Given the description of an element on the screen output the (x, y) to click on. 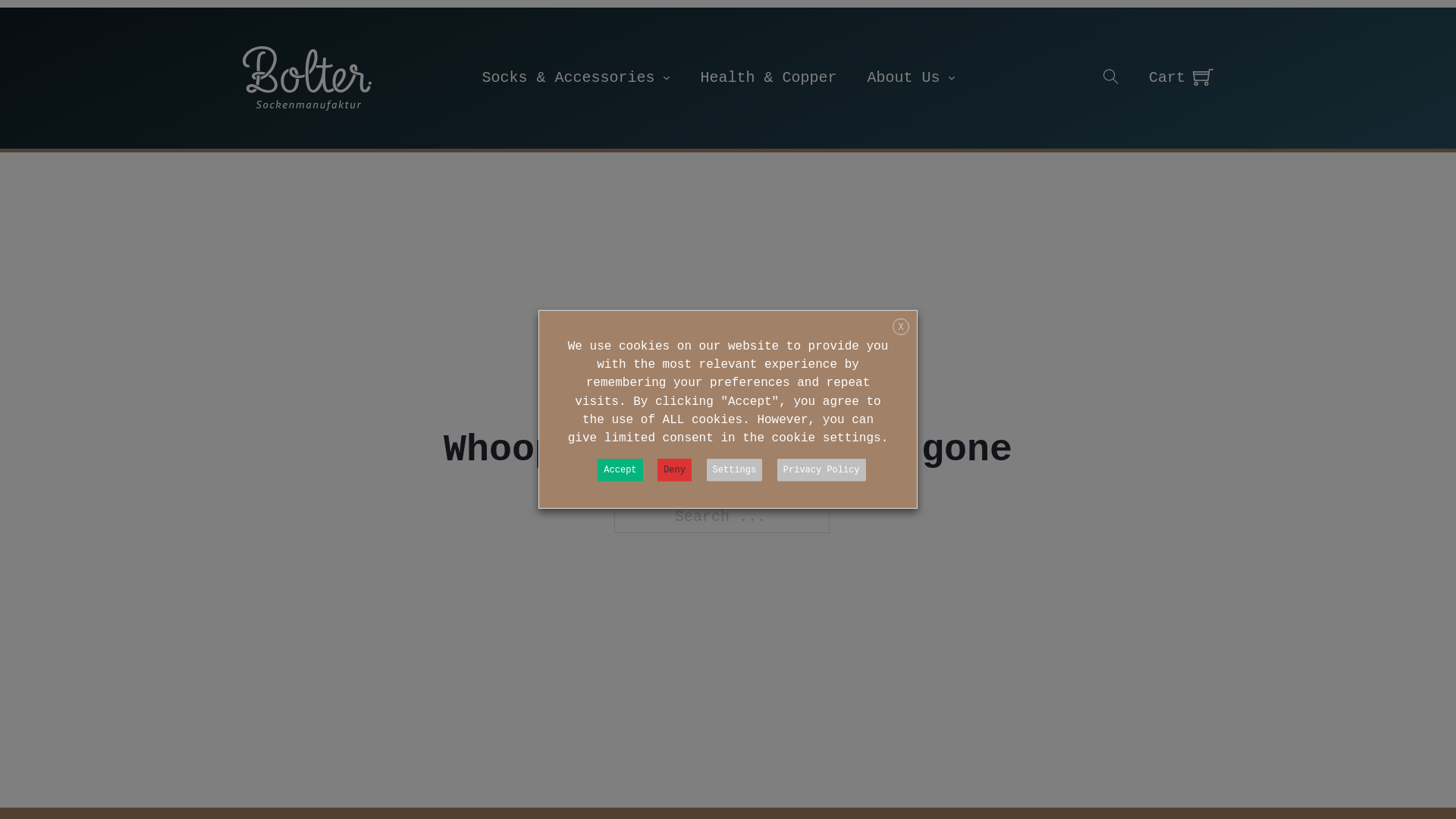
Deny Element type: text (674, 469)
Health & Copper Element type: text (768, 78)
Accept Element type: text (619, 469)
X Element type: text (900, 326)
Search Element type: text (246, 152)
Settings Element type: text (734, 469)
Socks & Accessories Element type: text (567, 78)
Cart Element type: text (1166, 77)
Privacy Policy Element type: text (821, 469)
About Us Element type: text (903, 78)
